Given the description of an element on the screen output the (x, y) to click on. 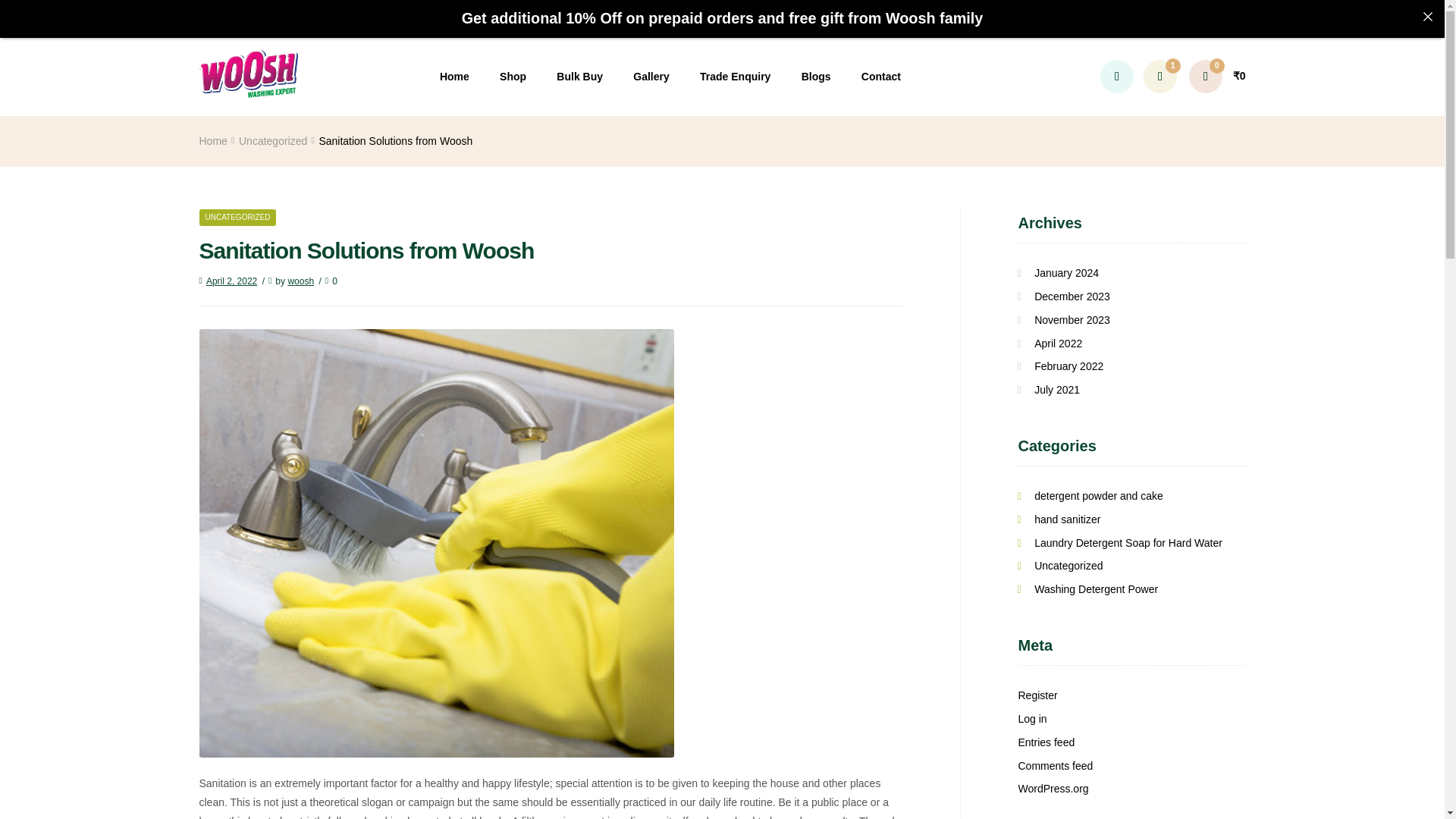
Contact (881, 76)
Gallery (651, 76)
January 2024 (1066, 272)
woosh (300, 281)
Uncategorized (272, 140)
View your shopping cart (1217, 76)
UNCATEGORIZED (237, 217)
April 2, 2022 (227, 281)
Home (212, 140)
Blogs (815, 76)
Shop (513, 76)
April 2022 (1057, 343)
November 2023 (1071, 319)
December 2023 (1071, 296)
1 (1159, 76)
